Given the description of an element on the screen output the (x, y) to click on. 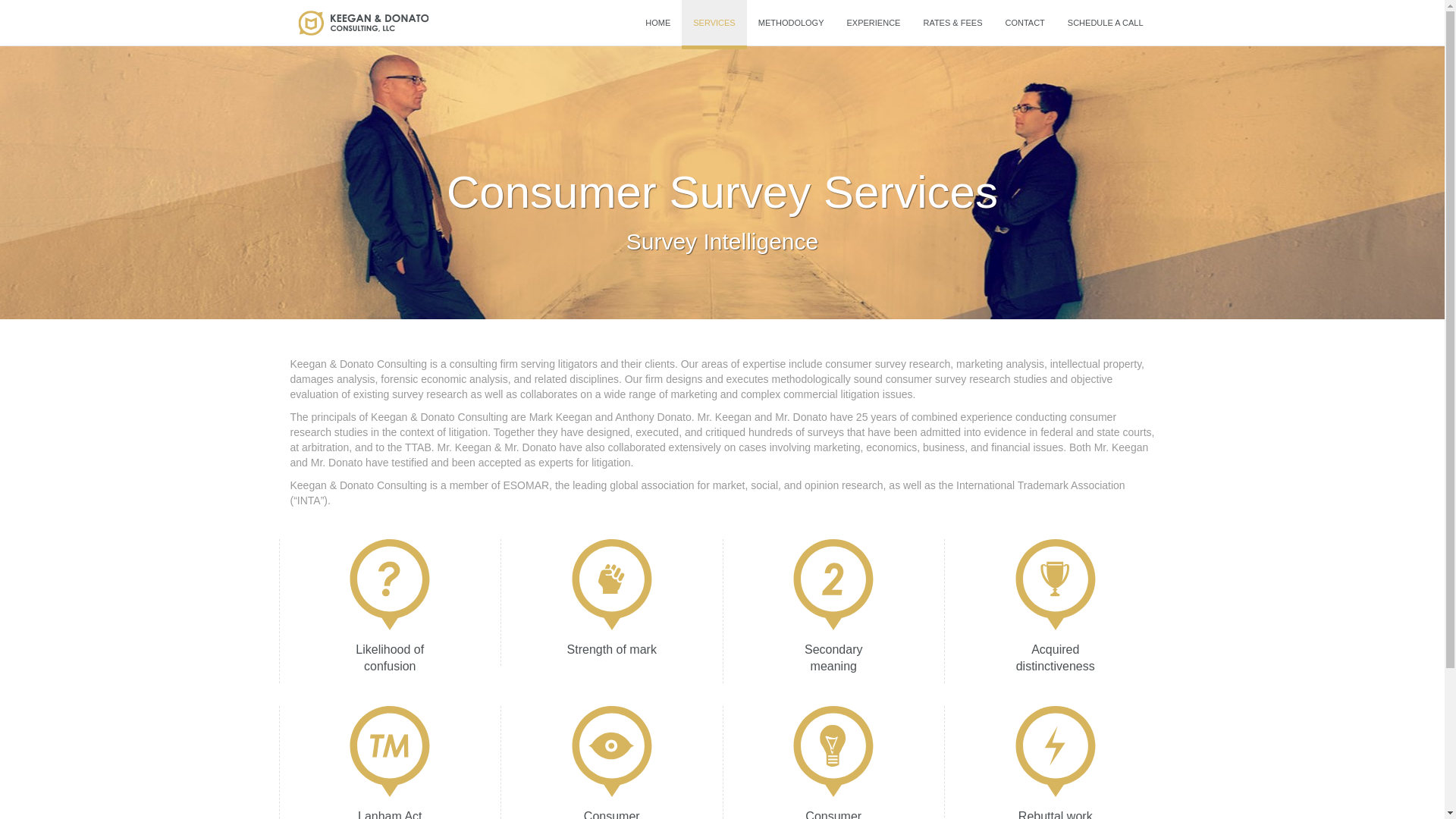
Schedule a Call (1105, 22)
Services (713, 22)
Rebuttal work (1054, 762)
HOME (657, 22)
Likelihood of confusion (389, 610)
EXPERIENCE (873, 22)
Secondary meaning (832, 610)
Home (657, 22)
Contact (1023, 22)
Consumer understanding (832, 762)
Consumer perception (611, 762)
Lanham Act claims (389, 762)
Strength of mark (611, 601)
Methodology (790, 22)
Acquired distinctiveness (1054, 610)
